Given the description of an element on the screen output the (x, y) to click on. 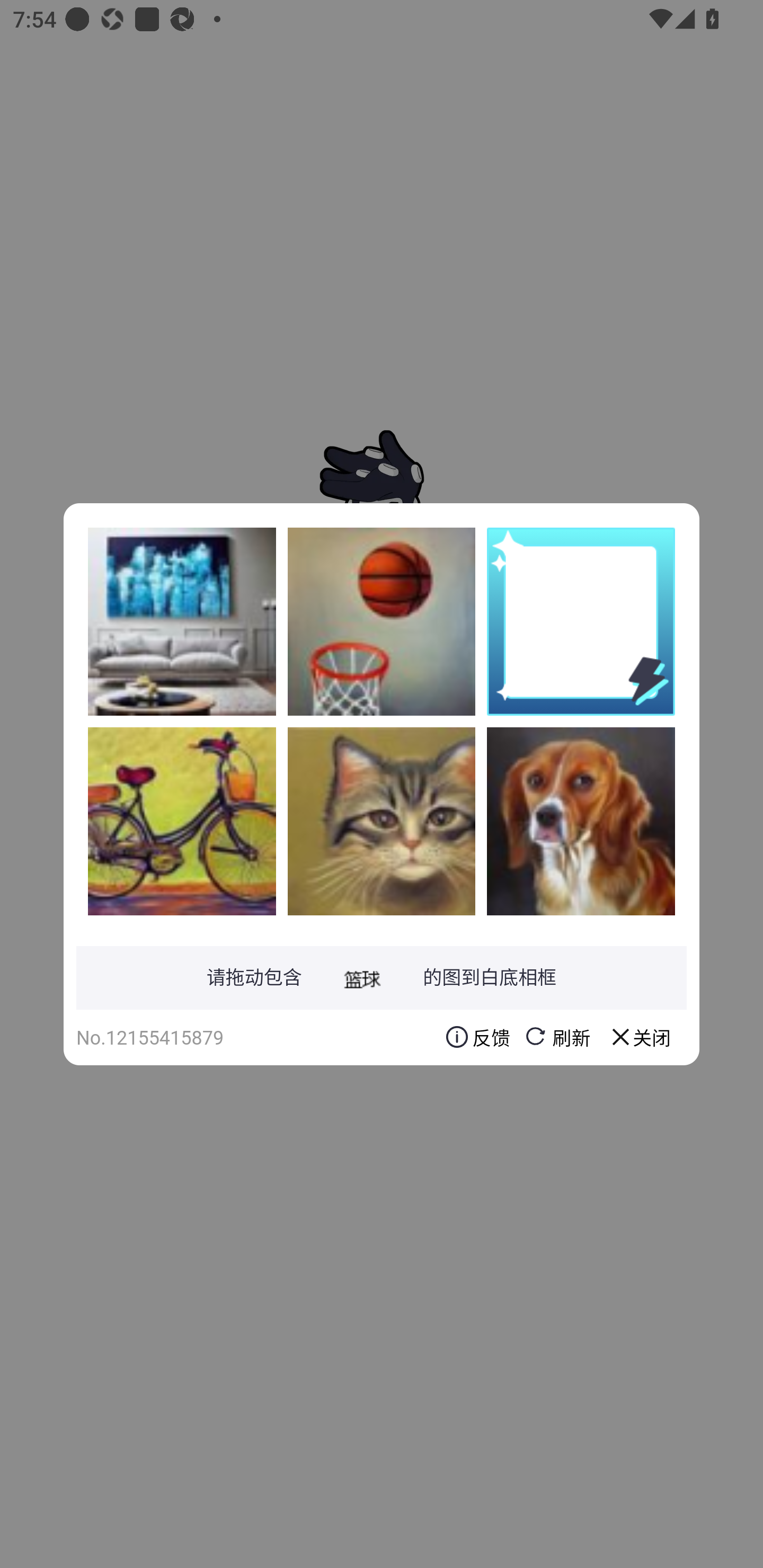
lkhodRtW (181, 820)
1NdPo6PL (381, 820)
